Given the description of an element on the screen output the (x, y) to click on. 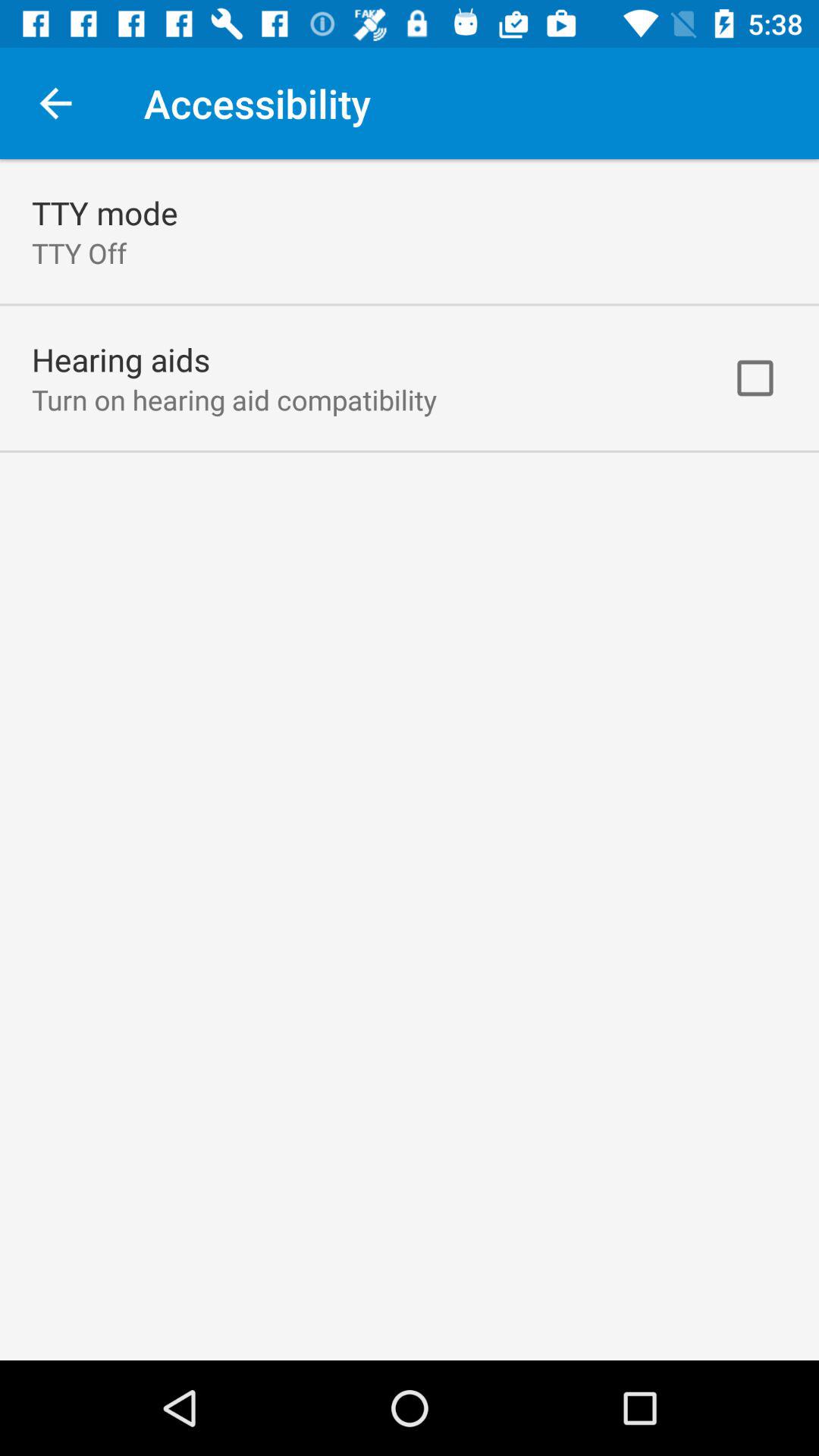
press icon below the tty mode item (78, 252)
